Given the description of an element on the screen output the (x, y) to click on. 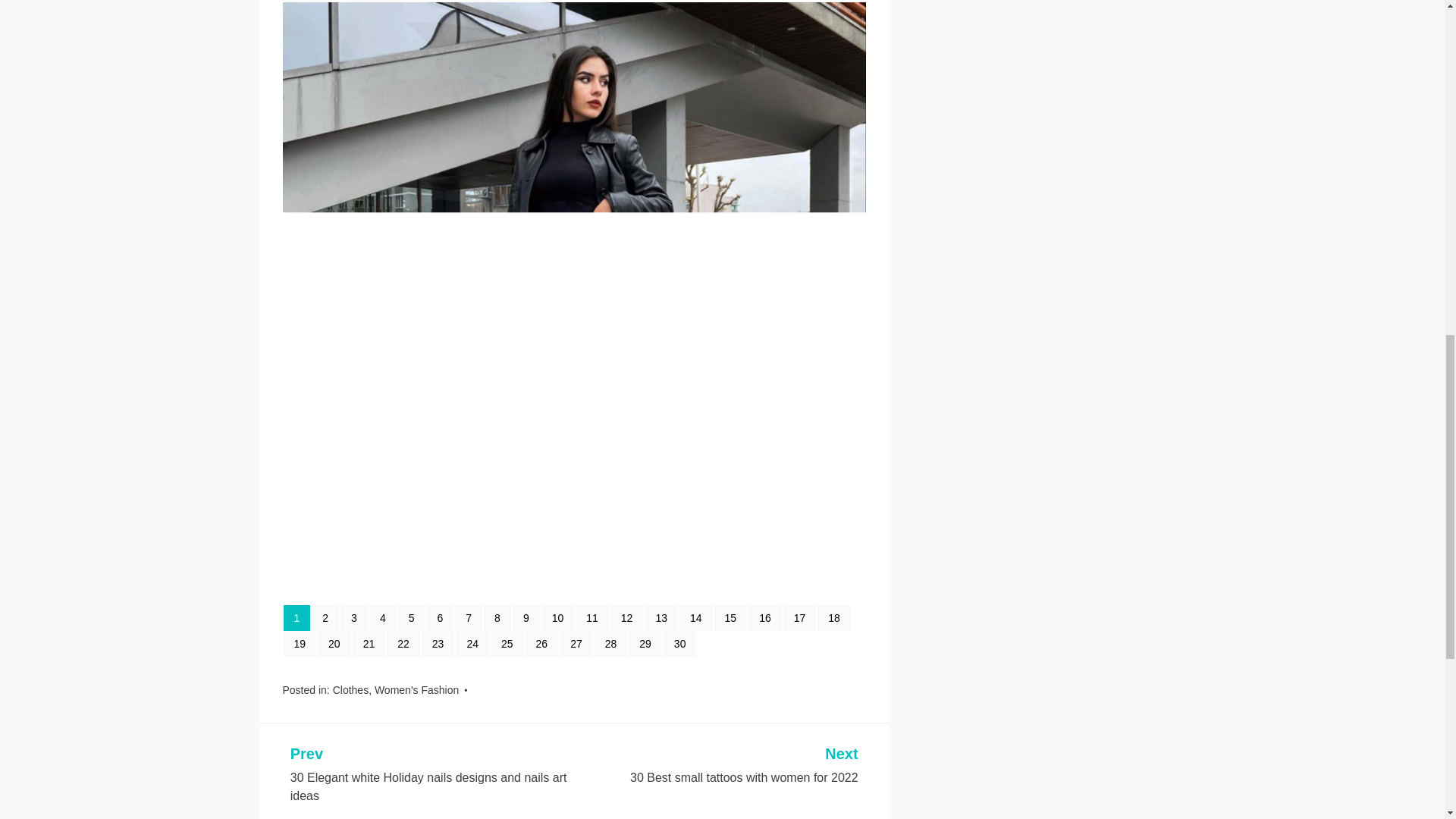
18 (833, 617)
25 (507, 643)
6 (439, 617)
14 (696, 617)
24 (472, 643)
3 (354, 617)
2 (325, 617)
23 (438, 643)
7 (467, 617)
5 (411, 617)
30 Cute Teen fashion outfits for 2022 Hailey Fashion Life (561, 575)
8 (497, 617)
21 (368, 643)
15 (731, 617)
19 (300, 643)
